Given the description of an element on the screen output the (x, y) to click on. 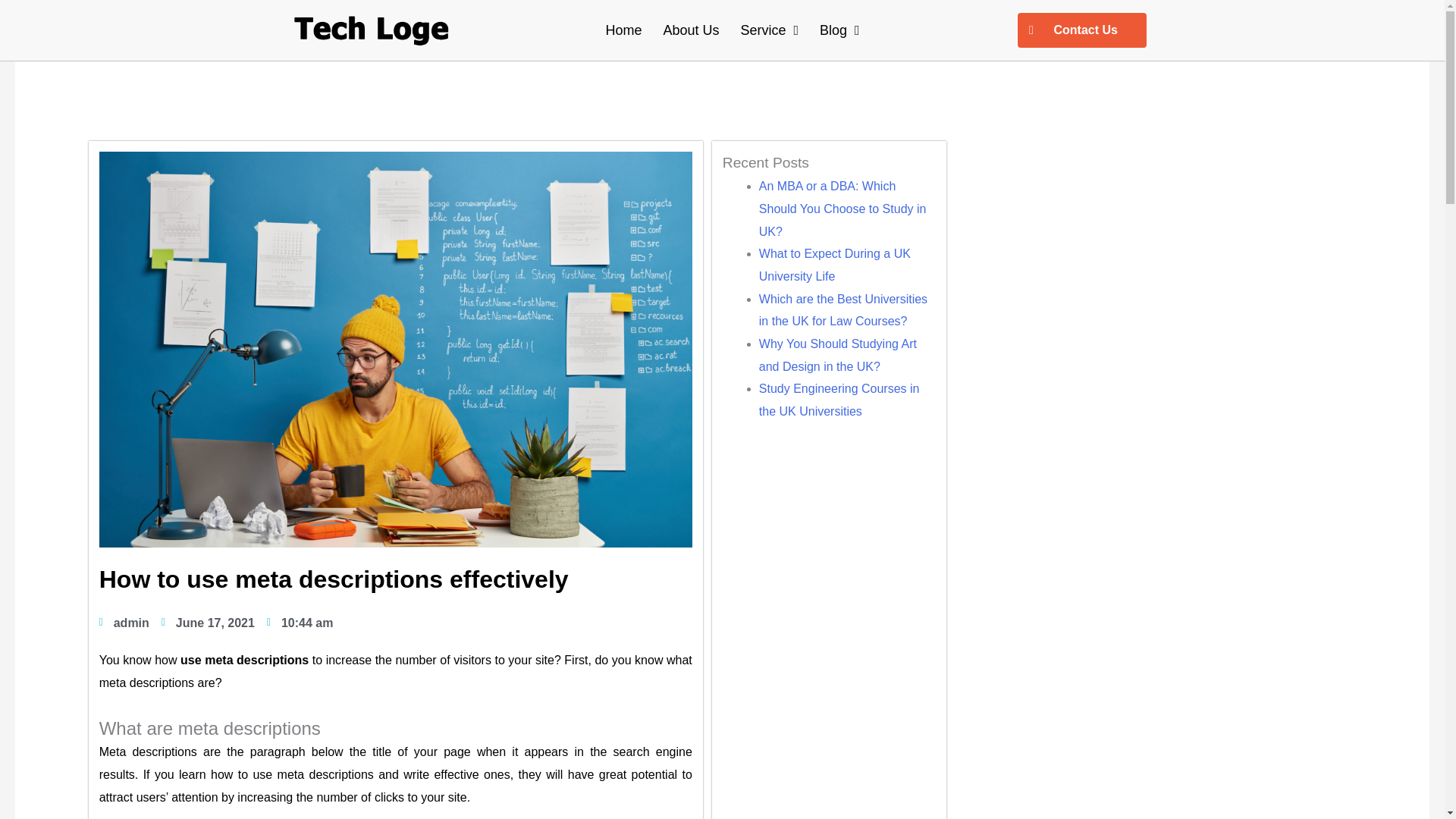
About Us (690, 30)
Contact Us (1082, 30)
Home (623, 30)
Service (769, 30)
Blog (839, 30)
